Given the description of an element on the screen output the (x, y) to click on. 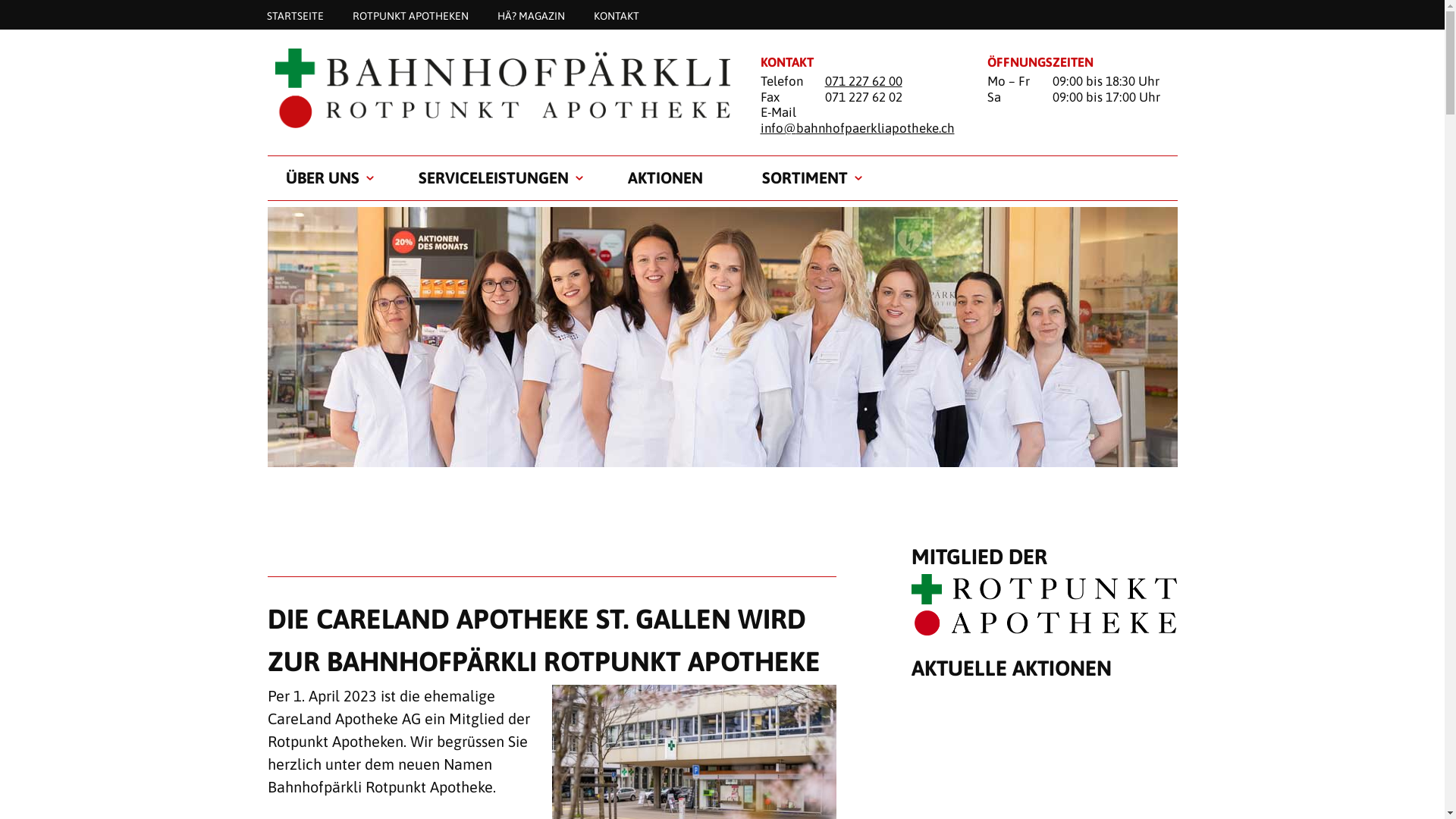
KONTAKT Element type: text (616, 15)
AKTIONEN Element type: text (665, 178)
ROTPUNKT APOTHEKEN Element type: text (410, 15)
SERVICELEISTUNGEN Element type: text (493, 178)
SORTIMENT Element type: text (804, 178)
071 227 62 00 Element type: text (863, 80)
info@bahnhofpaerkliapotheke.ch Element type: text (856, 127)
STARTSEITE Element type: text (294, 15)
Startseite Element type: hover (493, 88)
